Given the description of an element on the screen output the (x, y) to click on. 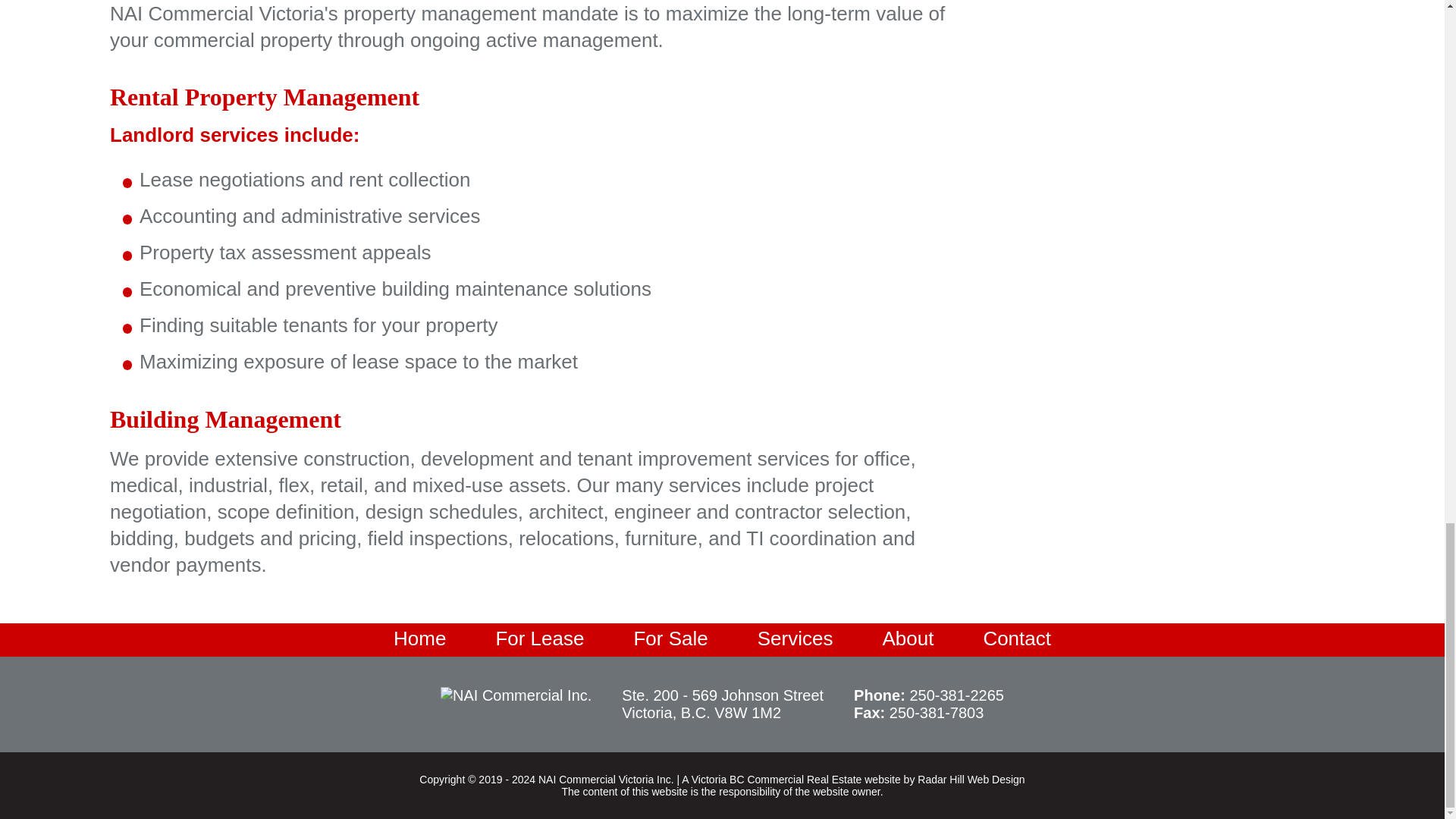
About (907, 637)
Contact (1016, 637)
Services (794, 637)
For Sale (670, 637)
For Lease (539, 637)
250-381-2265 (956, 695)
Home (419, 637)
